Given the description of an element on the screen output the (x, y) to click on. 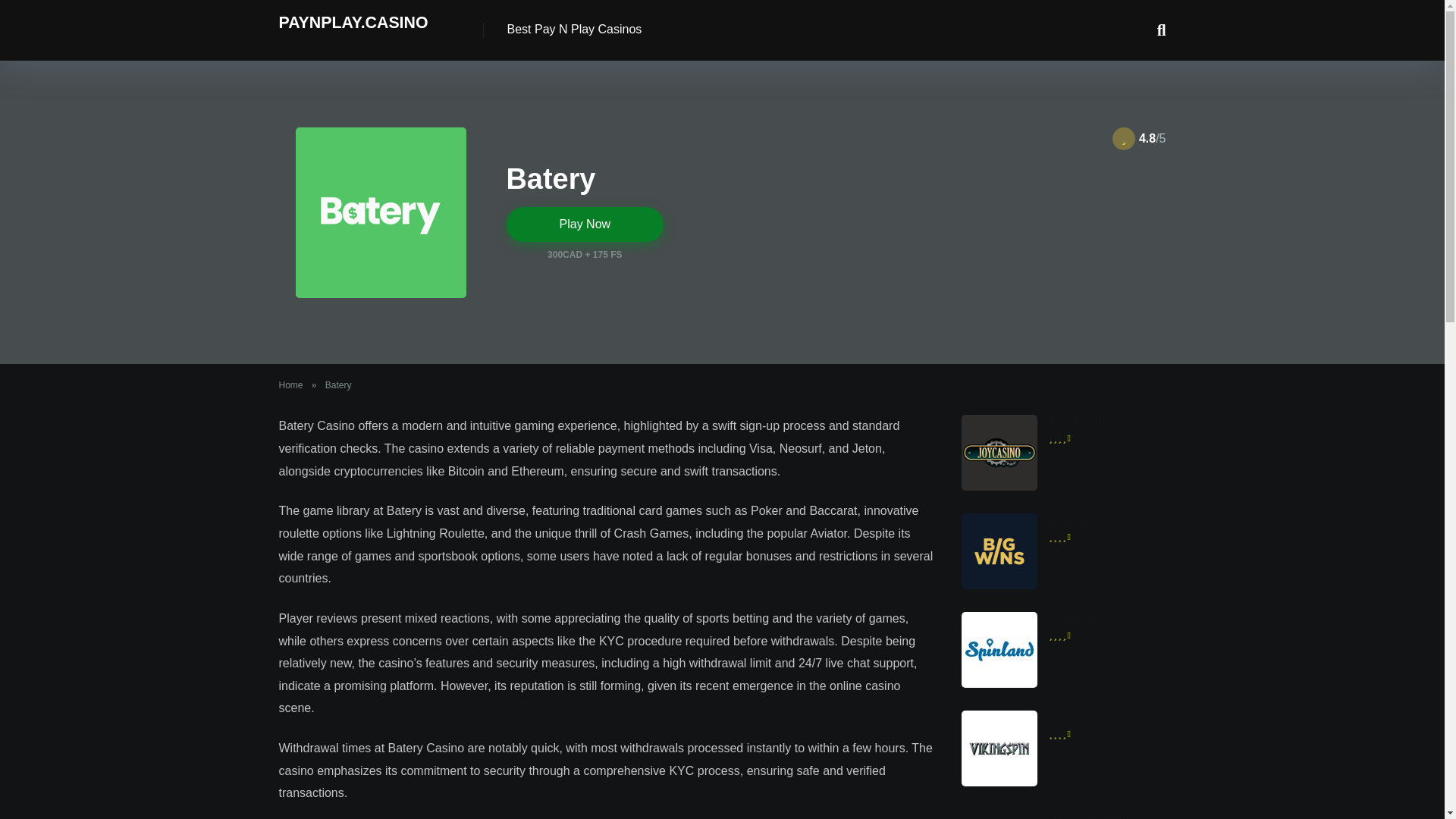
Spicy Jackpots (1092, 814)
Joy Casino (1080, 422)
VikivngSpin (1082, 717)
Spinland (998, 683)
PaynPlay.Casino (353, 17)
Joy Casino (998, 486)
Bigwins (1071, 520)
VikivngSpin (1082, 717)
VikivngSpin (998, 781)
Bigwins (1071, 520)
